Given the description of an element on the screen output the (x, y) to click on. 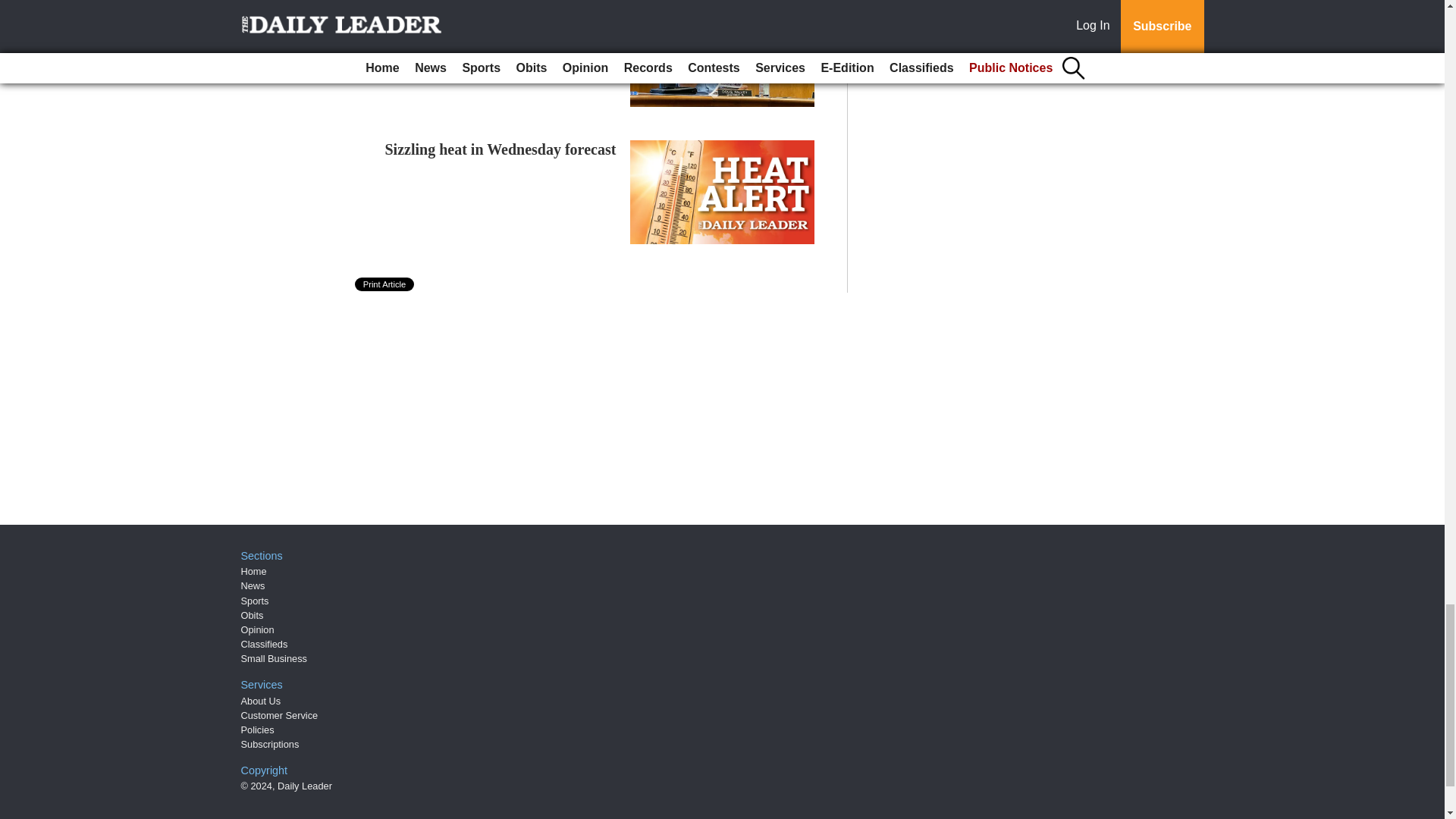
Supervisors hear annual report from Co-Lin Community College (492, 23)
Sizzling heat in Wednesday forecast (500, 149)
Print Article (384, 284)
Sizzling heat in Wednesday forecast (500, 149)
Supervisors hear annual report from Co-Lin Community College (492, 23)
